Given the description of an element on the screen output the (x, y) to click on. 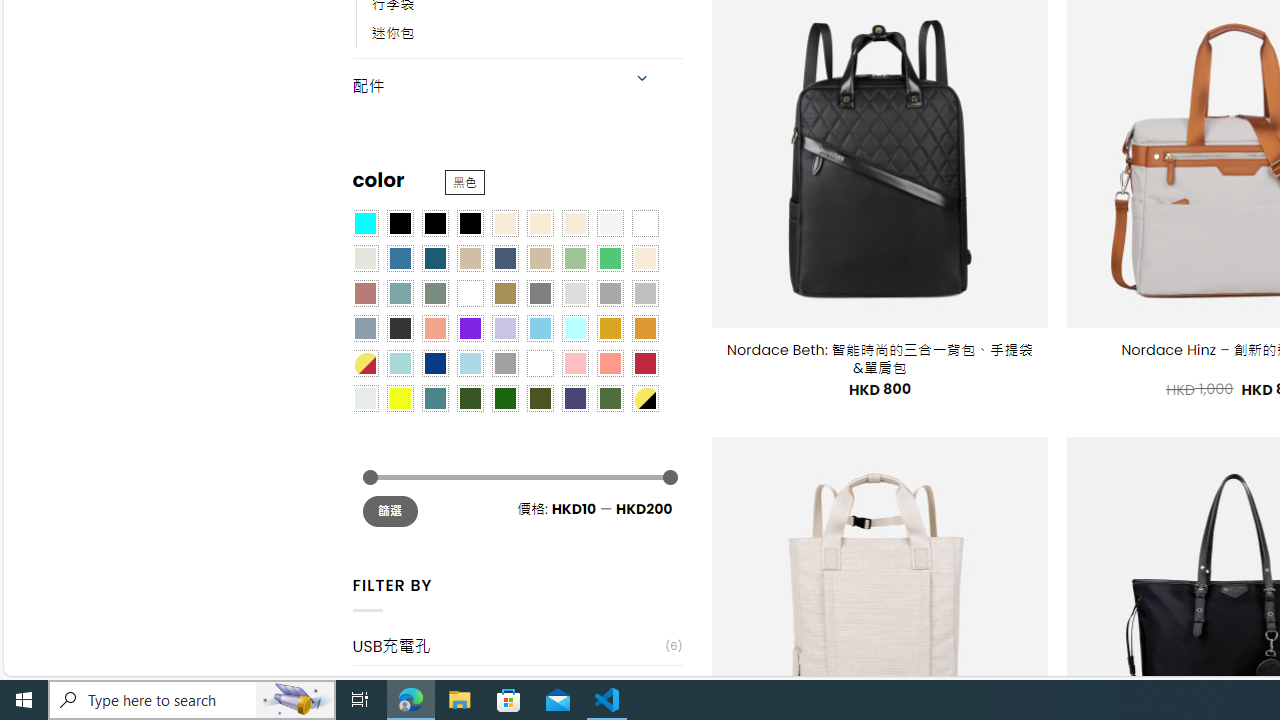
Cream (574, 223)
